Given the description of an element on the screen output the (x, y) to click on. 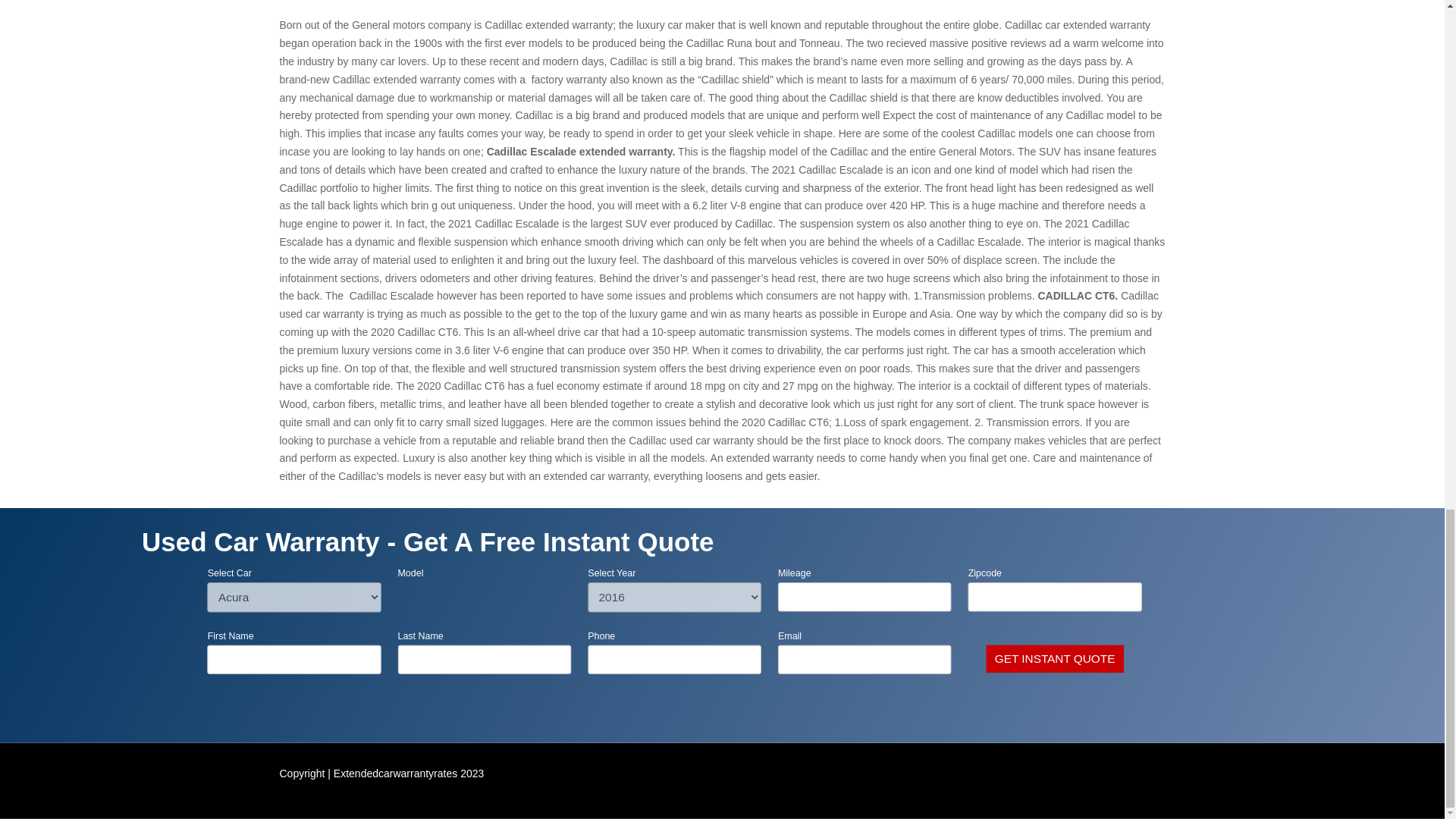
Get Instant Quote (1057, 659)
